Given the description of an element on the screen output the (x, y) to click on. 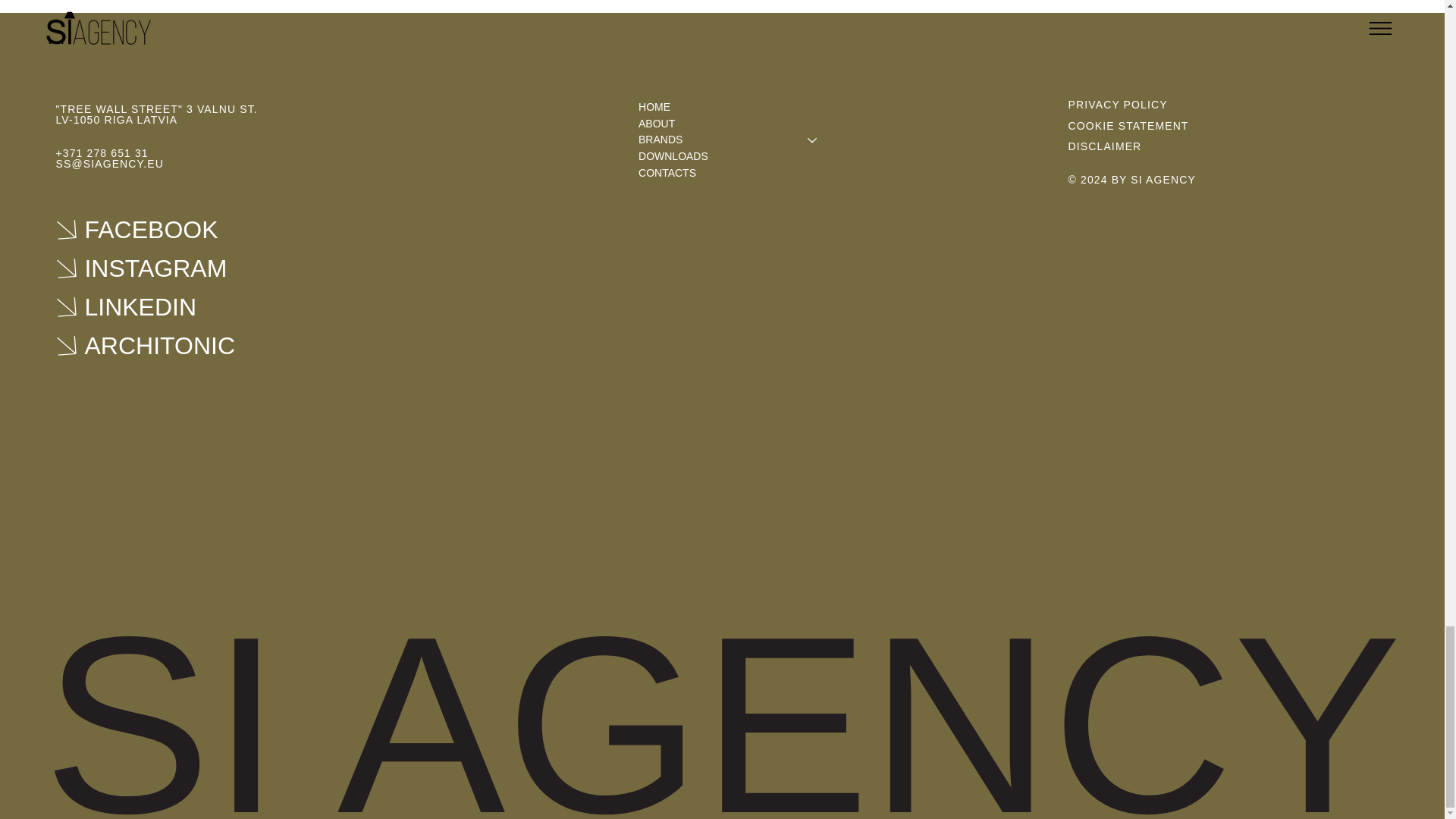
DOWNLOADS (735, 156)
ARCHITONIC (167, 345)
COOKIE STATEMENT (1128, 125)
CONTACTS (735, 173)
INSTAGRAM (167, 268)
PRIVACY POLICY (1117, 104)
LINKEDIN (167, 306)
HOME (735, 107)
FACEBOOK (167, 229)
BRANDS (716, 139)
DISCLAIMER (1104, 146)
ABOUT (735, 124)
